Given the description of an element on the screen output the (x, y) to click on. 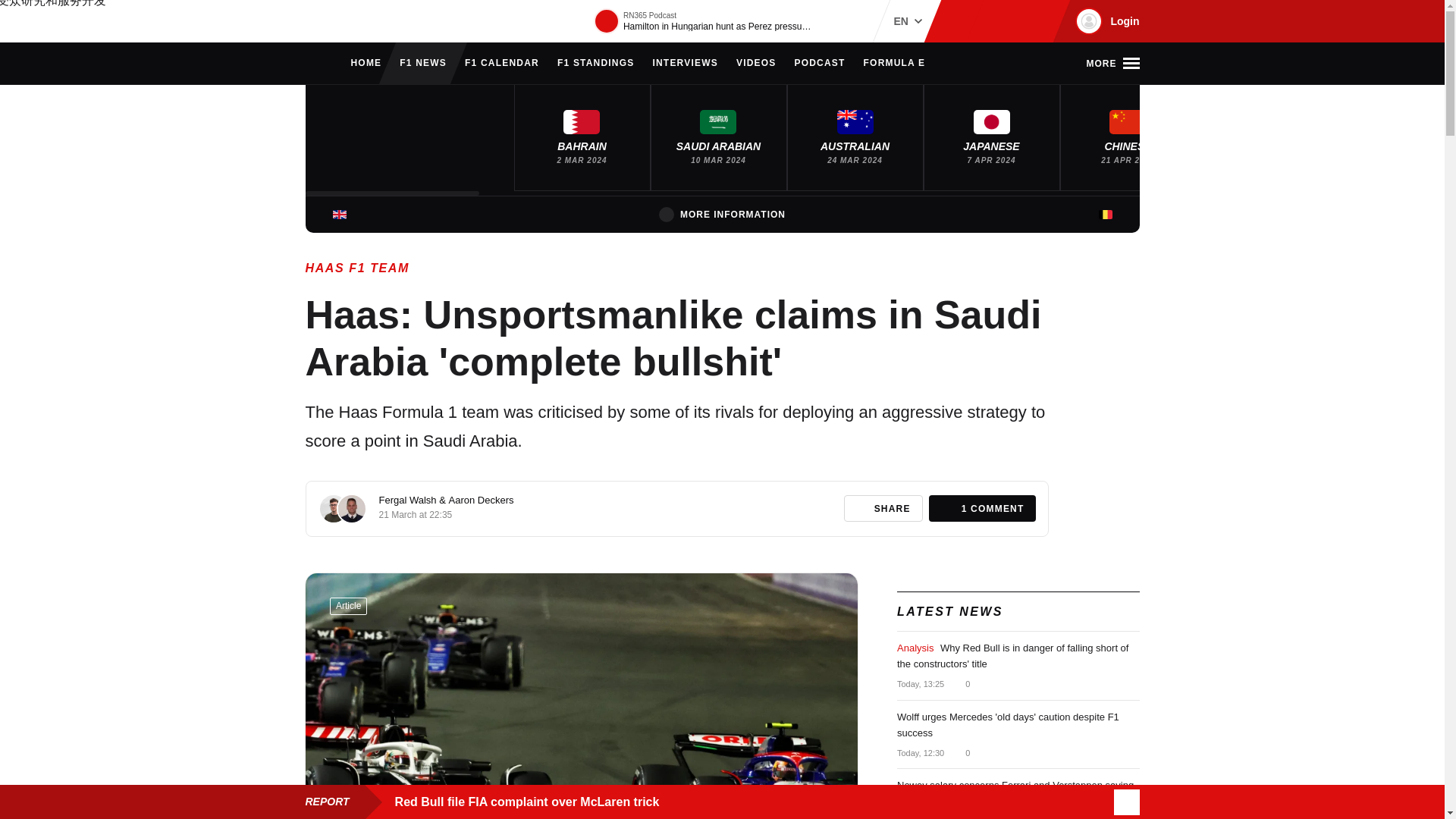
Thursday 21 March 2024 at 22:35 (415, 514)
Login (1104, 21)
RacingNews365 homepage (312, 63)
F1 NEWS (422, 63)
RacingNews365 on X (1010, 21)
INTERVIEWS (684, 63)
RacingNews365 on Instagram (962, 21)
FORMULA E (894, 63)
F1 CALENDAR (501, 63)
RacingNews365 on Facebook (986, 21)
PODCAST (818, 63)
F1 STANDINGS (595, 63)
MORE INFORMATION (722, 214)
